Given the description of an element on the screen output the (x, y) to click on. 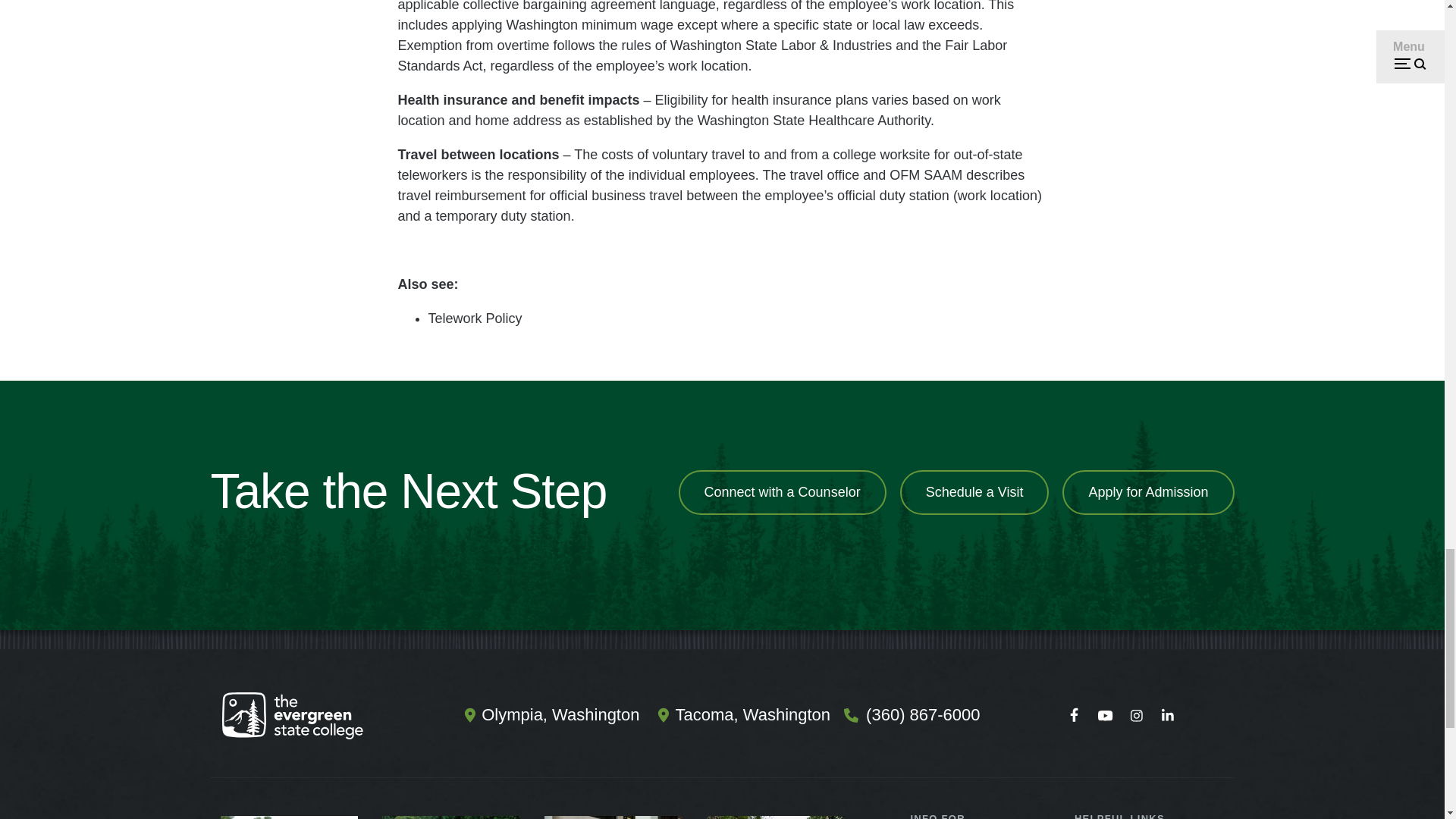
Apply for Admission (1147, 492)
Follow us on Instagram (1136, 715)
Schedule a Visit (974, 492)
Follow us on Facebook (1074, 715)
Connect with a Counselor (782, 492)
Connect with us on LinkedIn (1167, 715)
Watch us on Youtube (1105, 715)
